Given the description of an element on the screen output the (x, y) to click on. 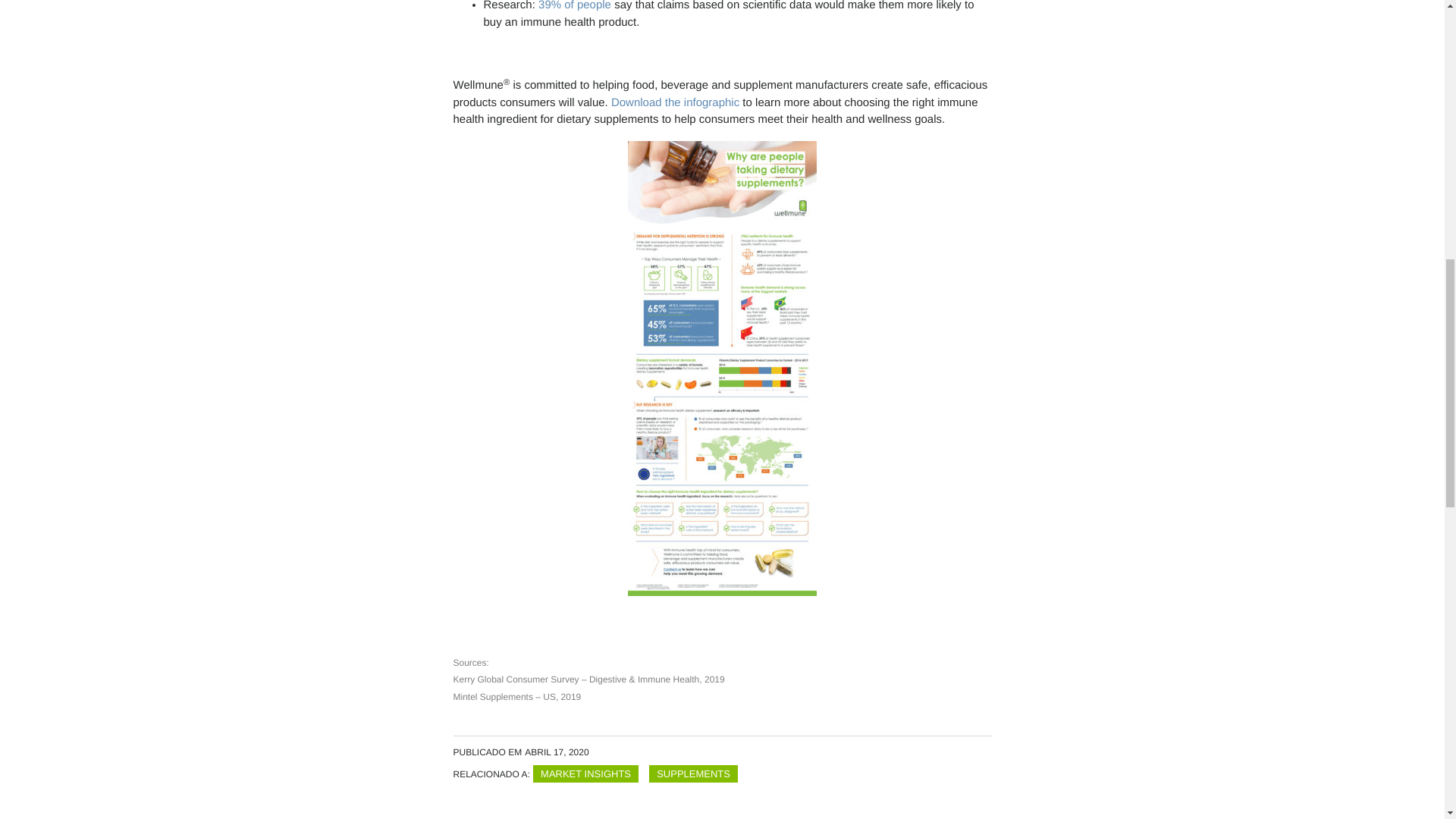
Download the infographic (675, 102)
SUPPLEMENTS (693, 773)
MARKET INSIGHTS (585, 773)
View all posts in Market Insights (585, 773)
View all posts in Supplements (693, 773)
